Given the description of an element on the screen output the (x, y) to click on. 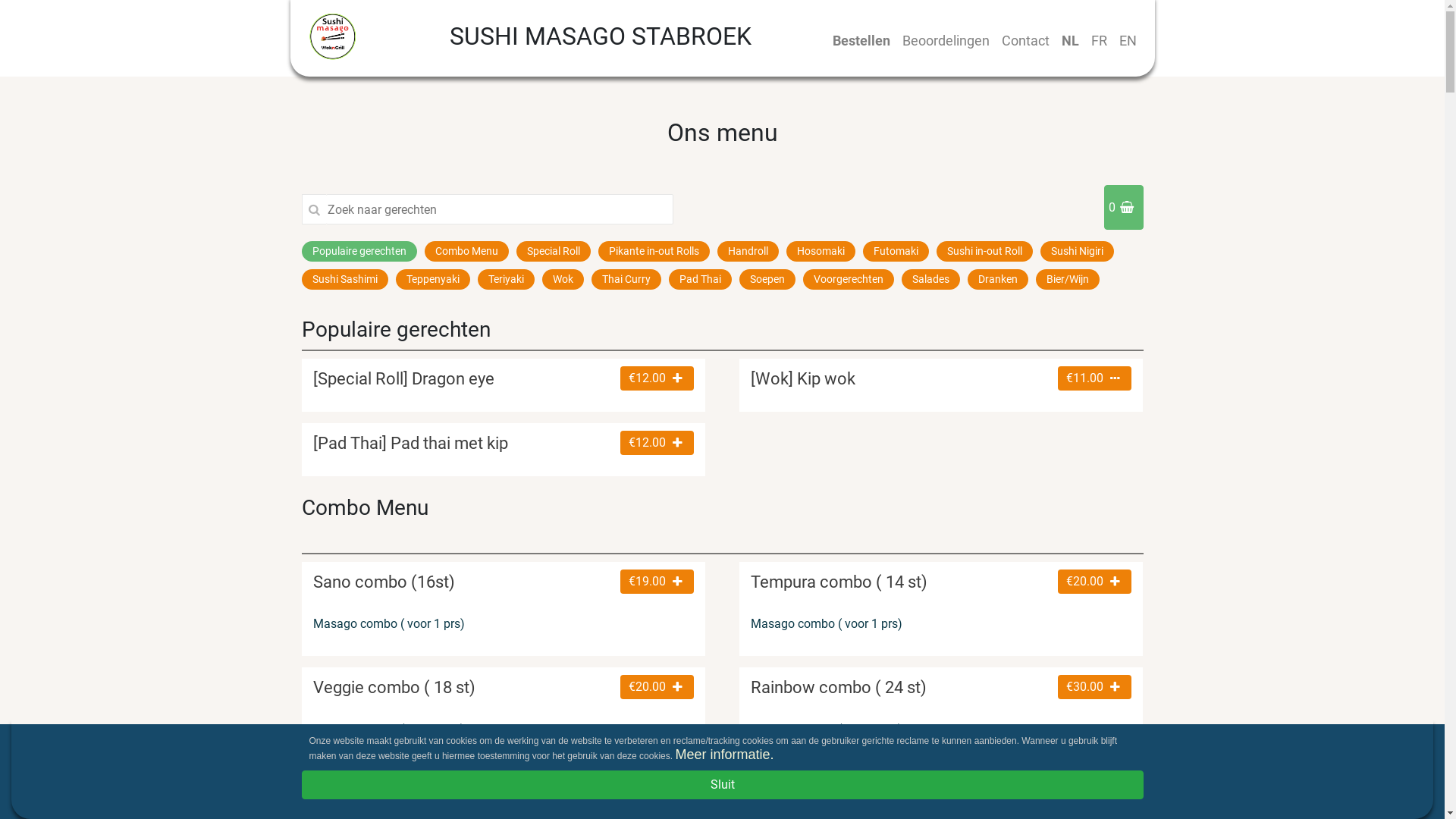
Combo Menu Element type: text (466, 251)
Pikante in-out Rolls Element type: text (653, 251)
Hosomaki Element type: text (819, 251)
Bier/Wijn Element type: text (1067, 279)
Meer informatie. Element type: text (723, 754)
FR Element type: text (1098, 40)
EN Element type: text (1127, 40)
Contact Element type: text (1024, 40)
Pad Thai Element type: text (699, 279)
Salades Element type: text (929, 279)
0 Element type: text (1123, 207)
NL Element type: text (1070, 40)
Futomaki Element type: text (895, 251)
Voorgerechten Element type: text (847, 279)
Beoordelingen Element type: text (945, 40)
Bestellen Element type: text (861, 40)
Thai Curry Element type: text (626, 279)
Wok Element type: text (562, 279)
Soepen Element type: text (766, 279)
Teppenyaki Element type: text (432, 279)
Handroll Element type: text (747, 251)
Sluit Element type: text (722, 784)
Teriyaki Element type: text (505, 279)
Sushi in-out Roll Element type: text (983, 251)
Dranken Element type: text (997, 279)
Populaire gerechten Element type: text (359, 251)
Sushi Sashimi Element type: text (344, 279)
Special Roll Element type: text (552, 251)
Sushi Nigiri Element type: text (1076, 251)
